Given the description of an element on the screen output the (x, y) to click on. 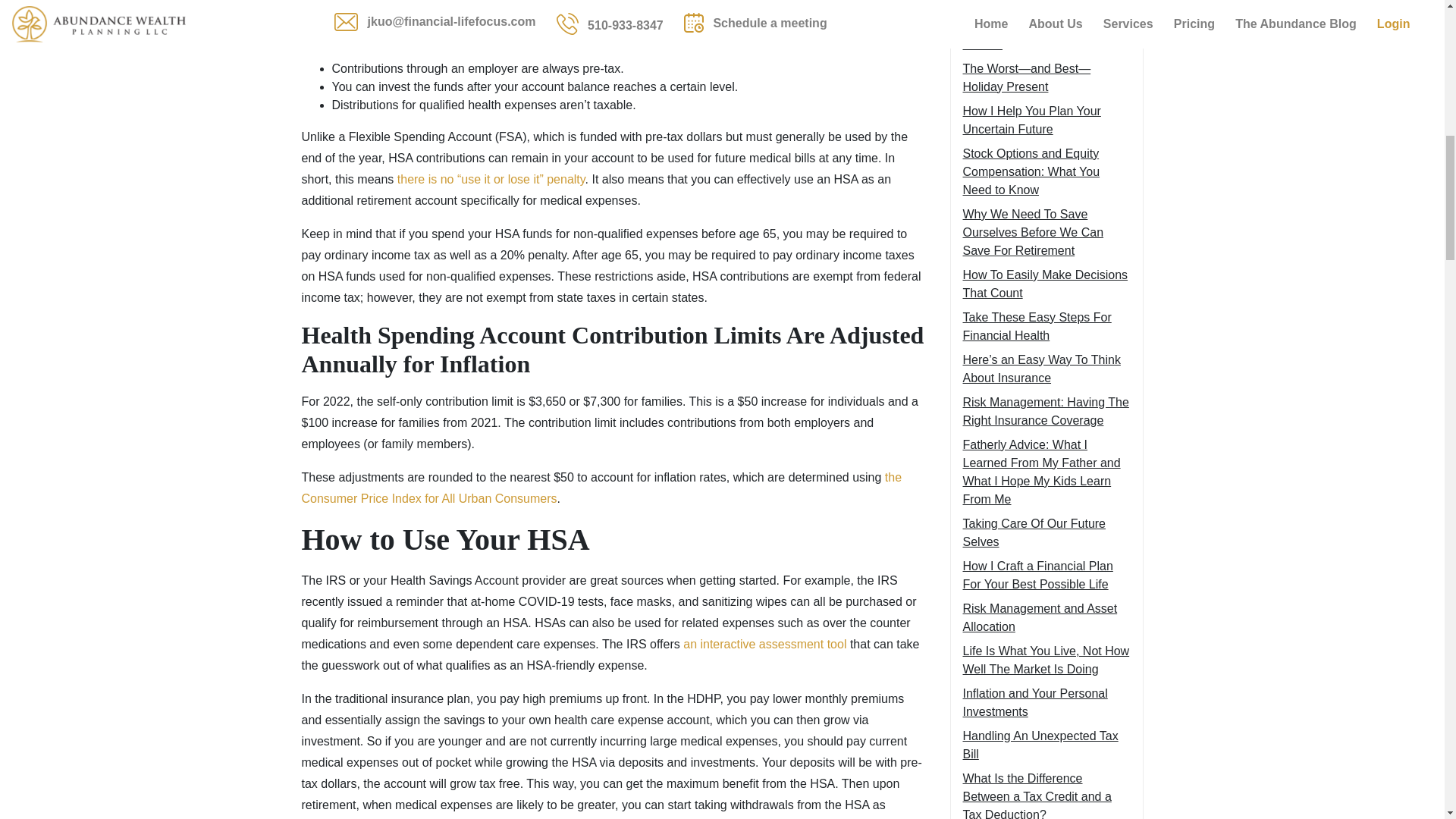
Take These Easy Steps For Financial Health (1037, 326)
the Consumer Price Index for All Urban Consumers (601, 487)
Risk Management: Having The Right Insurance Coverage (1045, 410)
Stock Options and Equity Compensation: What You Need to Know (1031, 171)
How I Craft a Financial Plan For Your Best Possible Life (1037, 574)
Taking Care Of Our Future Selves (1034, 531)
How I Help You Plan Your Uncertain Future (1031, 119)
an interactive assessment tool (763, 644)
How To Easily Make Decisions That Count (1045, 283)
